Given the description of an element on the screen output the (x, y) to click on. 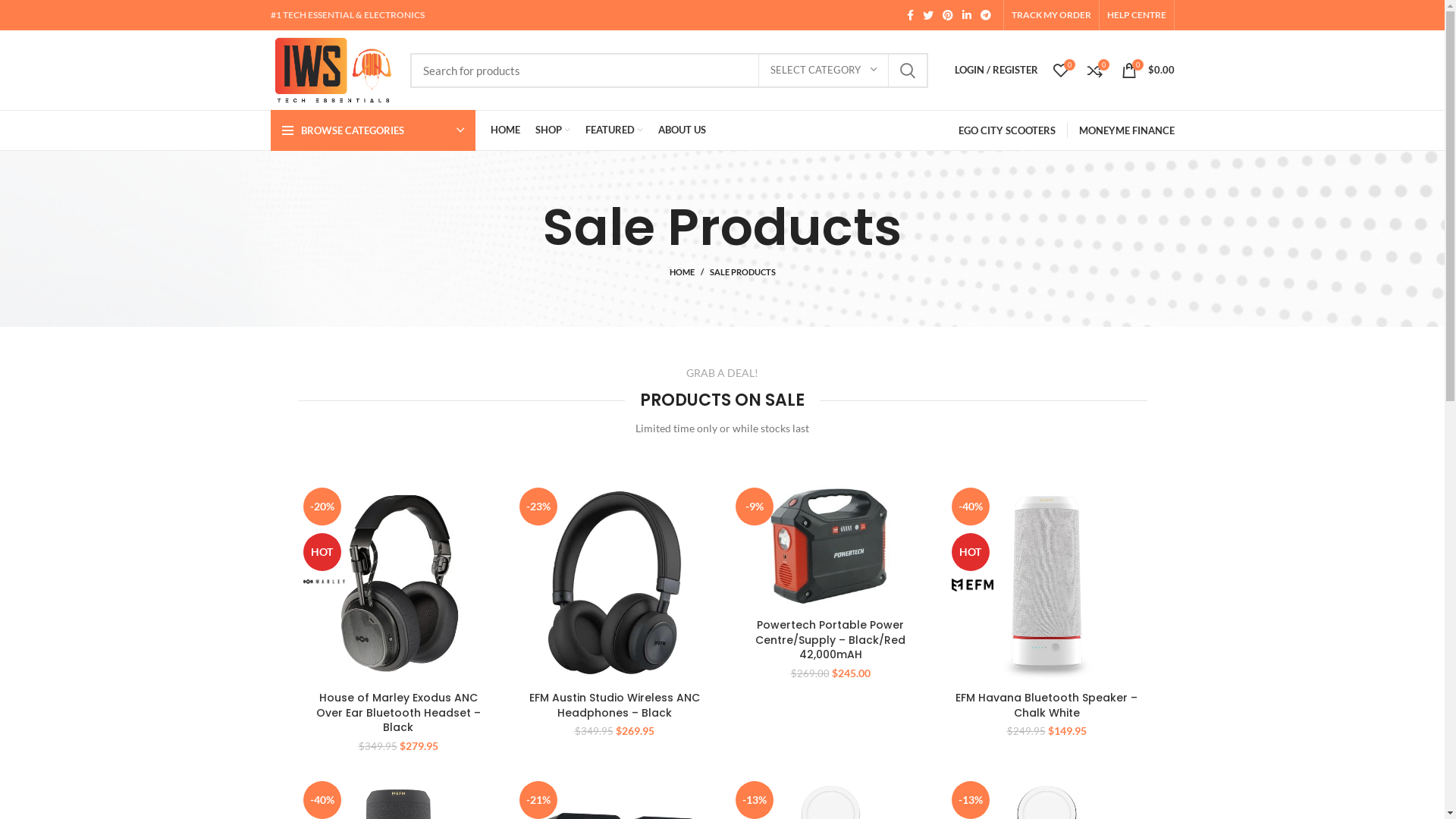
EGO CITY SCOOTERS Element type: text (1006, 130)
0 Element type: text (1059, 69)
Search for products Element type: hover (668, 70)
efm Element type: hover (971, 584)
-23% Element type: text (614, 582)
FEATURED Element type: text (613, 130)
marley Element type: hover (324, 580)
0
$0.00 Element type: text (1147, 69)
SEARCH Element type: text (907, 70)
-20%
HOT Element type: text (397, 582)
SELECT CATEGORY Element type: text (823, 70)
-40%
HOT Element type: text (1046, 582)
MONEYME FINANCE Element type: text (1125, 130)
ABOUT US Element type: text (681, 130)
TRACK MY ORDER Element type: text (1051, 14)
SHOP Element type: text (552, 130)
HELP CENTRE Element type: text (1136, 14)
0 Element type: text (1094, 69)
HOME Element type: text (688, 272)
LOGIN / REGISTER Element type: text (995, 69)
-9% Element type: text (829, 546)
HOME Element type: text (504, 130)
